Given the description of an element on the screen output the (x, y) to click on. 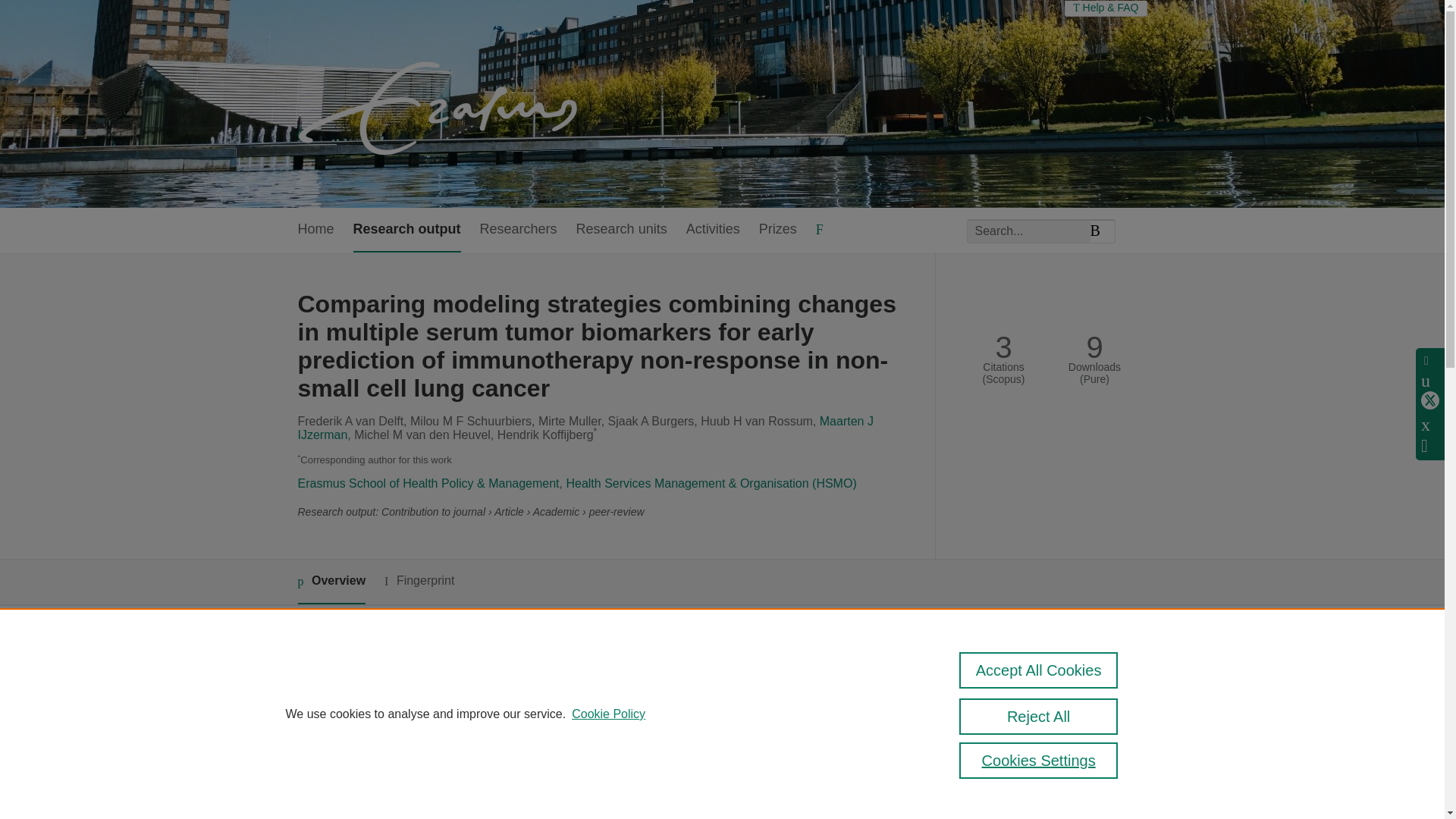
Fingerprint (419, 580)
Researchers (518, 230)
Activities (712, 230)
Research units (621, 230)
Overview (331, 581)
CC BY-NC (1029, 811)
Maarten J IJzerman (584, 427)
Research output (407, 230)
Erasmus University Rotterdam Home (441, 103)
